Given the description of an element on the screen output the (x, y) to click on. 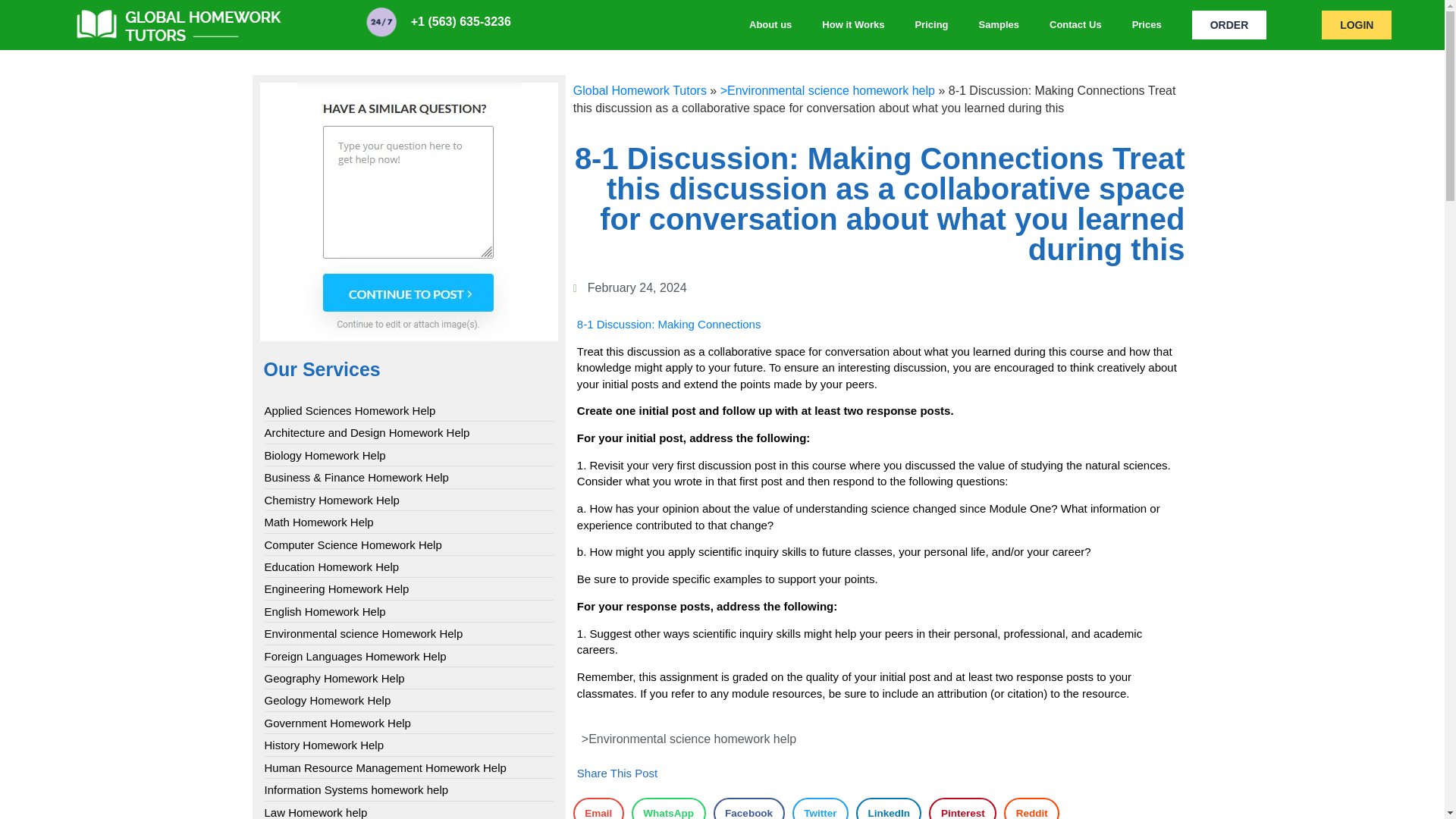
Samples (998, 24)
Pricing (930, 24)
About us (769, 24)
Chemistry Homework Help (330, 499)
Prices (1146, 24)
Architecture and Design Homework Help (365, 432)
ORDER (1229, 24)
Contact Us (1074, 24)
LOGIN (1356, 24)
Applied Sciences Homework Help (349, 410)
